Given the description of an element on the screen output the (x, y) to click on. 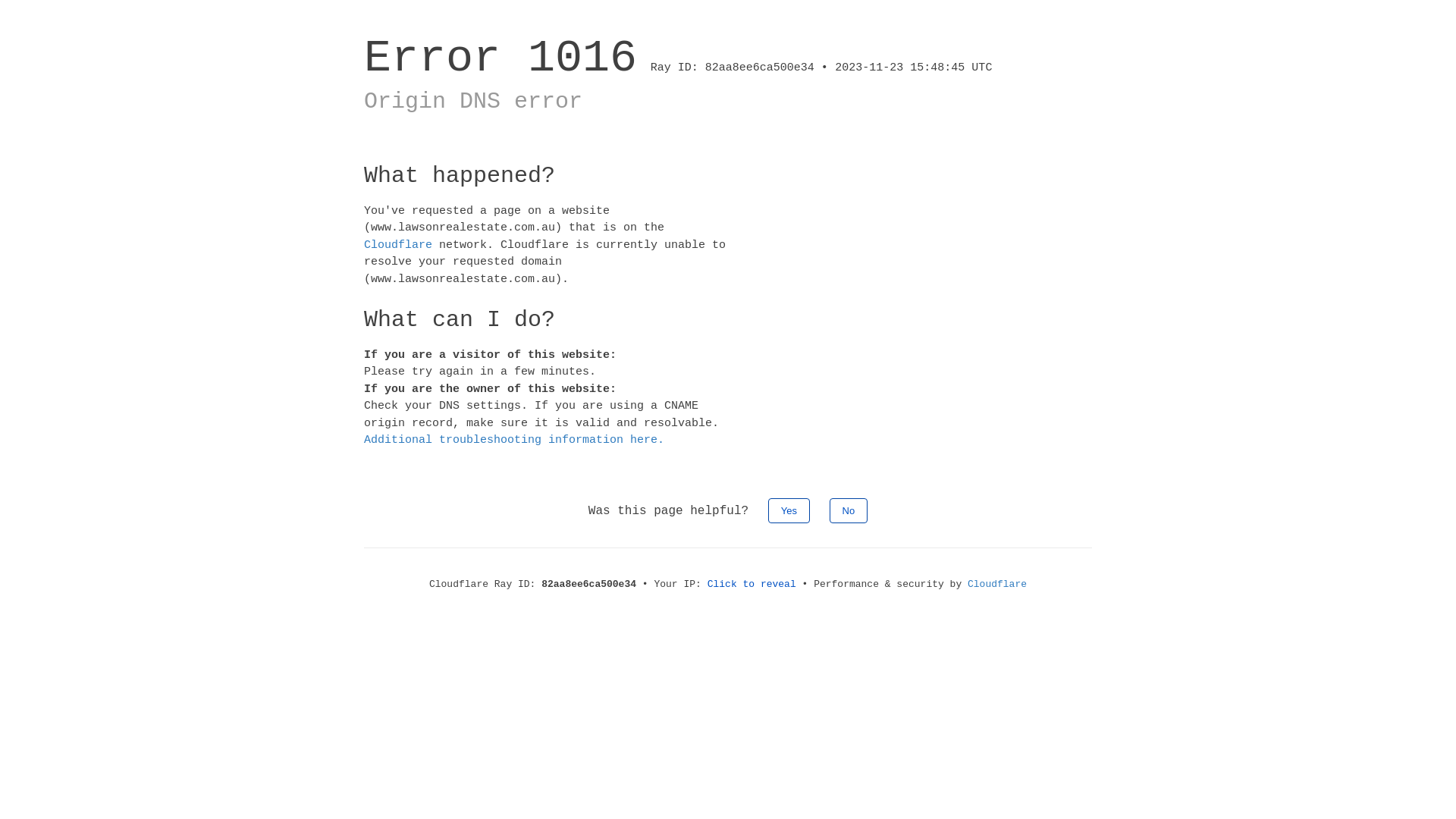
Cloudflare Element type: text (398, 244)
Cloudflare Element type: text (996, 583)
Additional troubleshooting information here. Element type: text (514, 439)
Yes Element type: text (788, 509)
No Element type: text (848, 509)
Click to reveal Element type: text (751, 583)
